Given the description of an element on the screen output the (x, y) to click on. 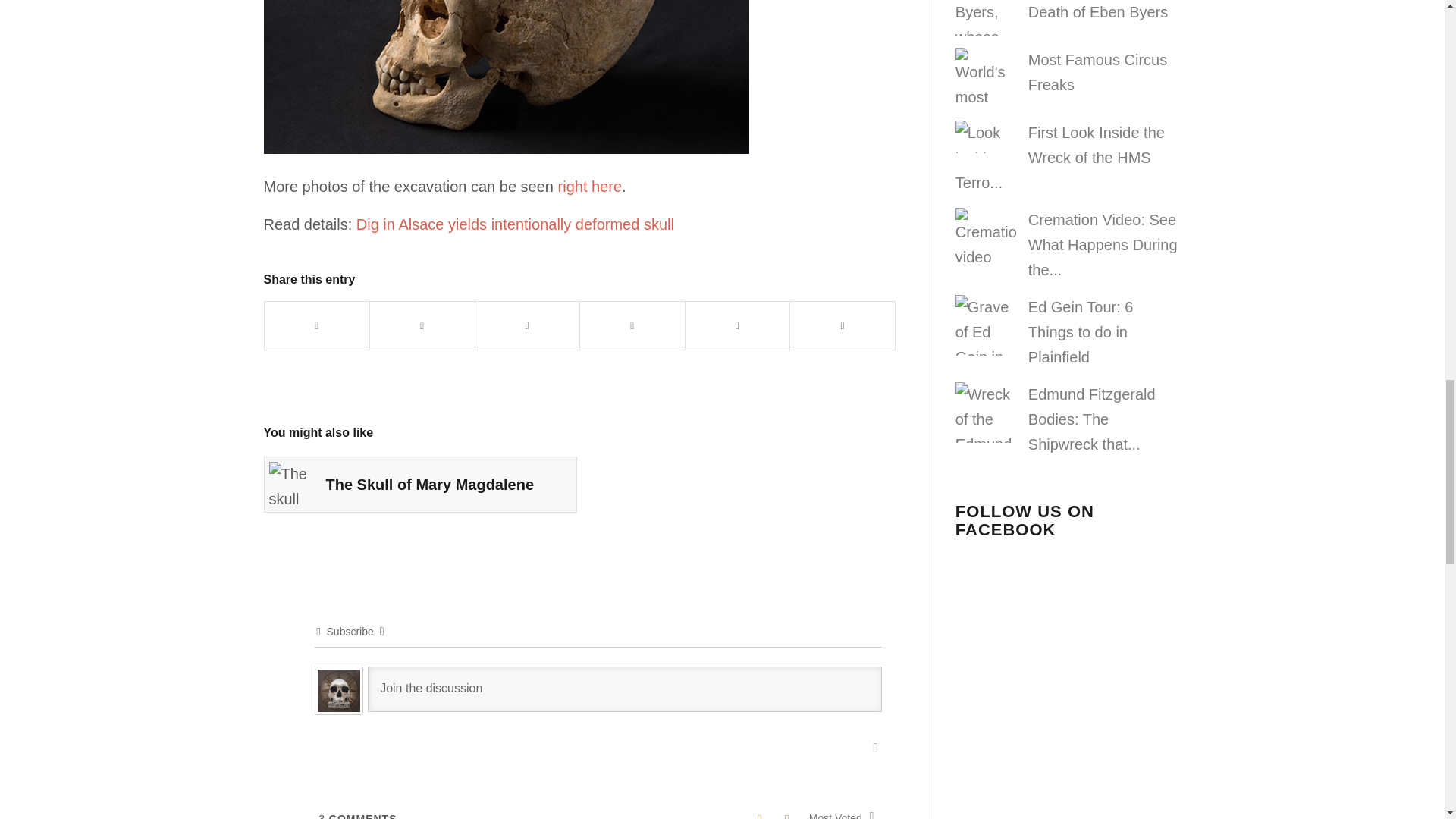
The Skull of Mary Magdalene (420, 484)
Dig in Alsace yields intentionally deformed skull (515, 224)
The skull of Mary Magdalene (290, 483)
The Skull of Mary Magdalene (420, 484)
right here (590, 186)
